Given the description of an element on the screen output the (x, y) to click on. 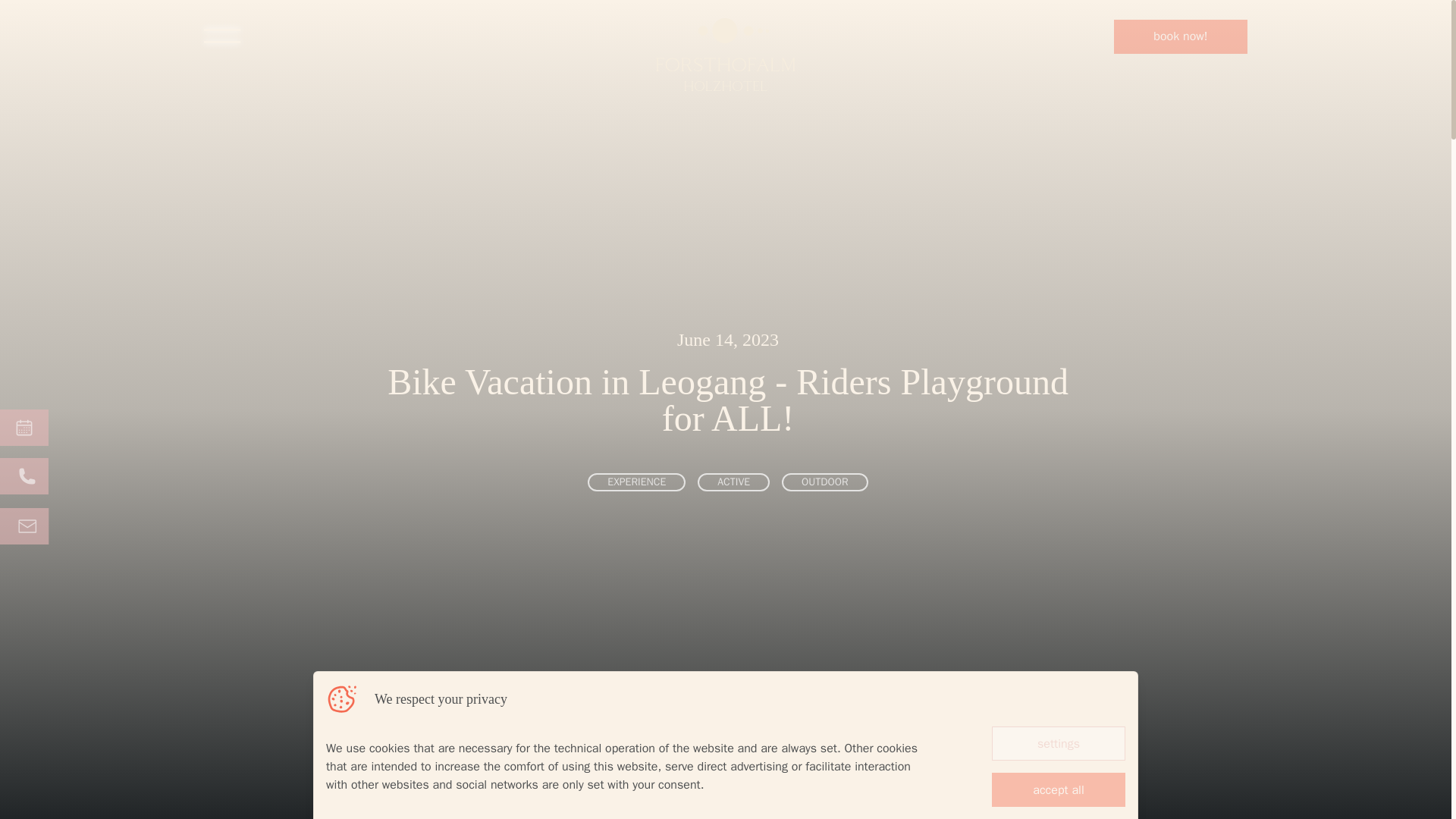
Payment (917, 756)
book now! (1180, 36)
Press (531, 756)
Blog (1081, 756)
Imprint (716, 756)
Home (409, 756)
Schnellanfrage senden (24, 525)
accept all (1058, 789)
Jobs (588, 756)
settings (1058, 743)
